Given the description of an element on the screen output the (x, y) to click on. 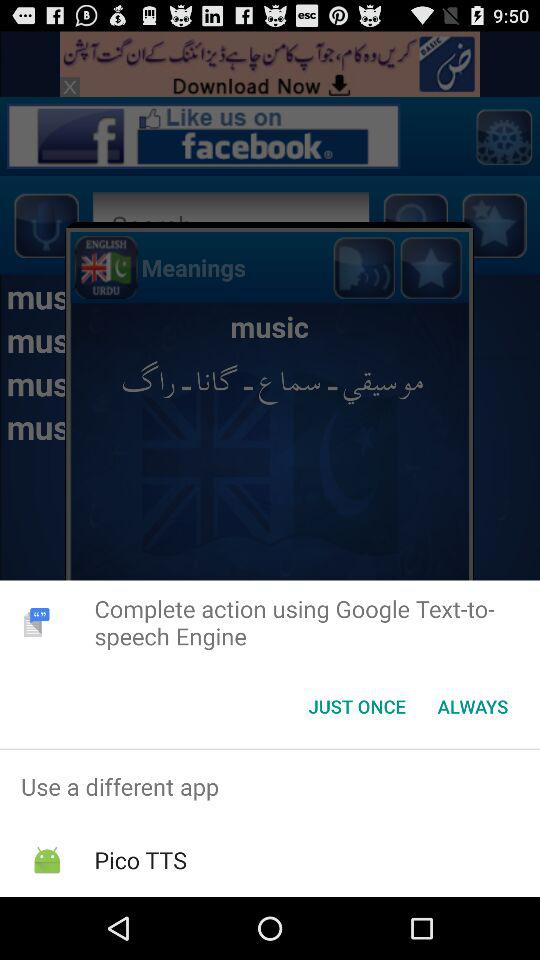
swipe to pico tts item (140, 860)
